Given the description of an element on the screen output the (x, y) to click on. 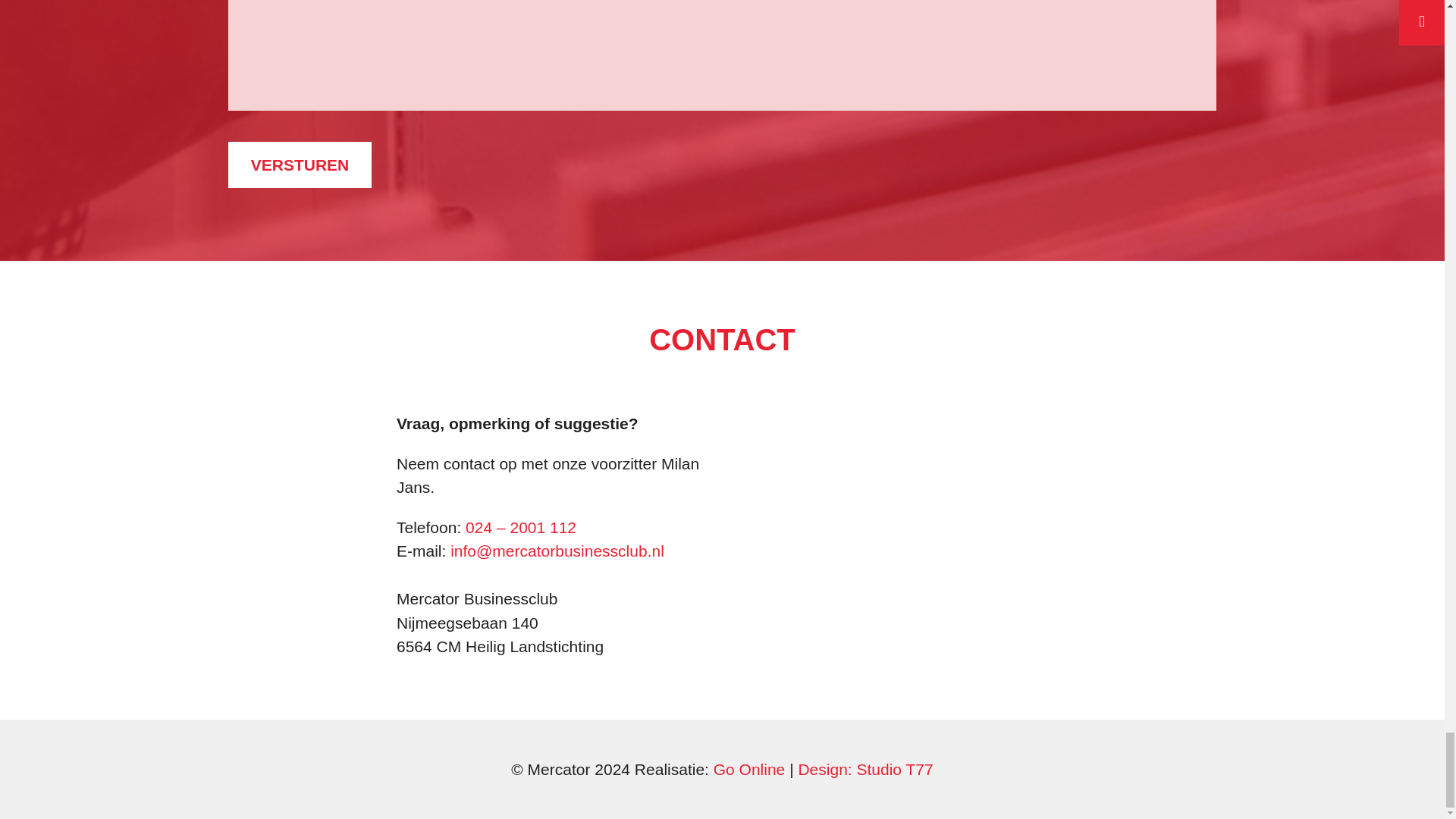
Versturen (300, 165)
Online marketing bureau Nijmegen (749, 769)
Grafisch ontwerp Nijmegen (865, 769)
